Given the description of an element on the screen output the (x, y) to click on. 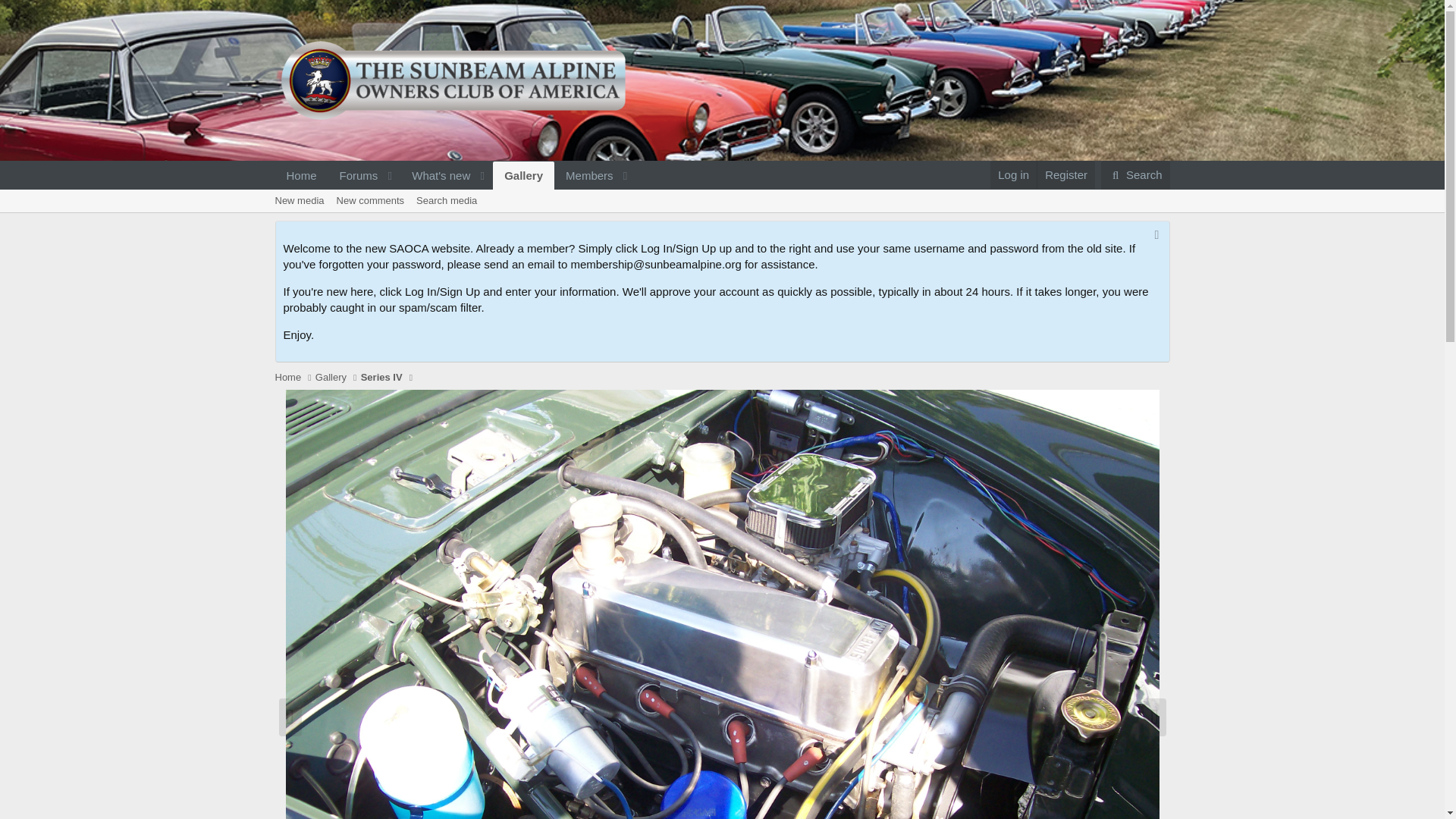
New comments (370, 200)
Log in (1013, 174)
Search (1135, 174)
Search (1135, 174)
What's new (435, 175)
Members (584, 175)
Home (720, 217)
Forums (301, 175)
Search media (454, 192)
New media (354, 175)
Gallery (446, 200)
Register (298, 200)
